Given the description of an element on the screen output the (x, y) to click on. 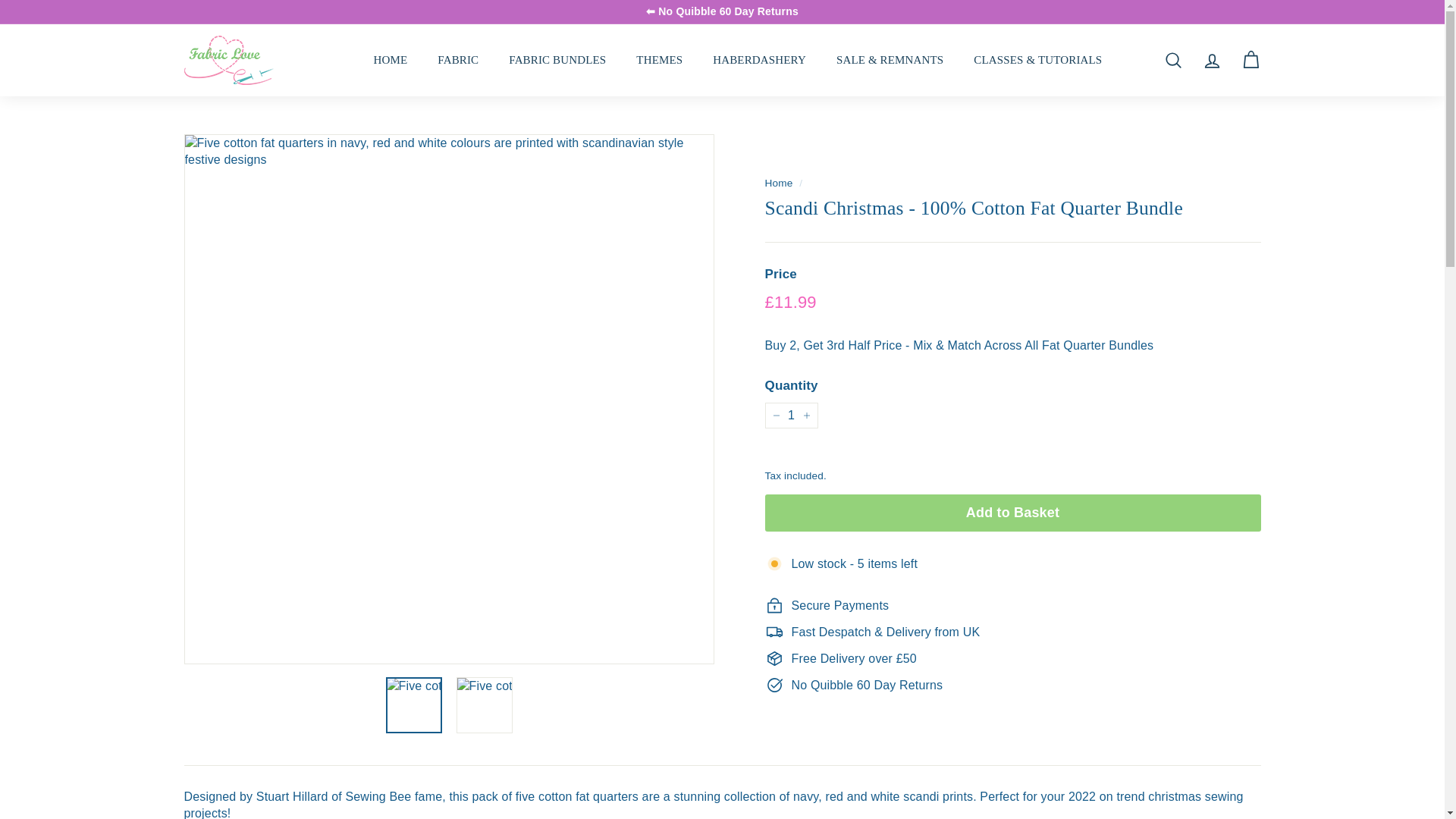
FABRIC (457, 59)
Back to the frontpage (778, 183)
1 (790, 415)
HOME (390, 59)
